Given the description of an element on the screen output the (x, y) to click on. 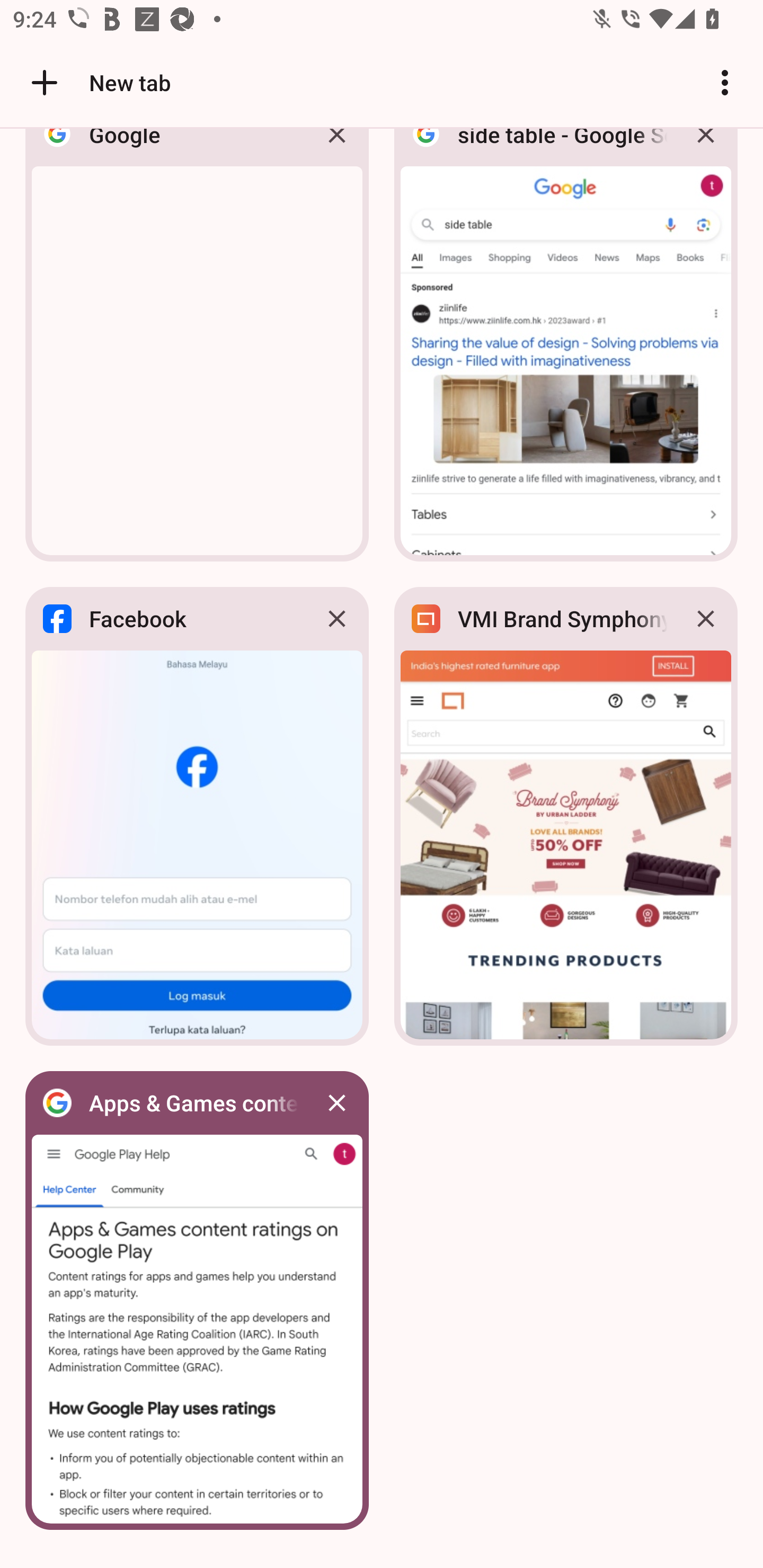
Open the home page (38, 82)
New tab (98, 82)
Customize and control Google Chrome (724, 82)
Google Google, tab Close Google tab (196, 350)
Close Google tab (337, 149)
Close side table - Google Search tab (705, 149)
Facebook Facebook, tab Close Facebook tab (196, 815)
Close Facebook tab (337, 618)
Close VMI Brand Symphony - Urban Ladder tab (705, 618)
